Given the description of an element on the screen output the (x, y) to click on. 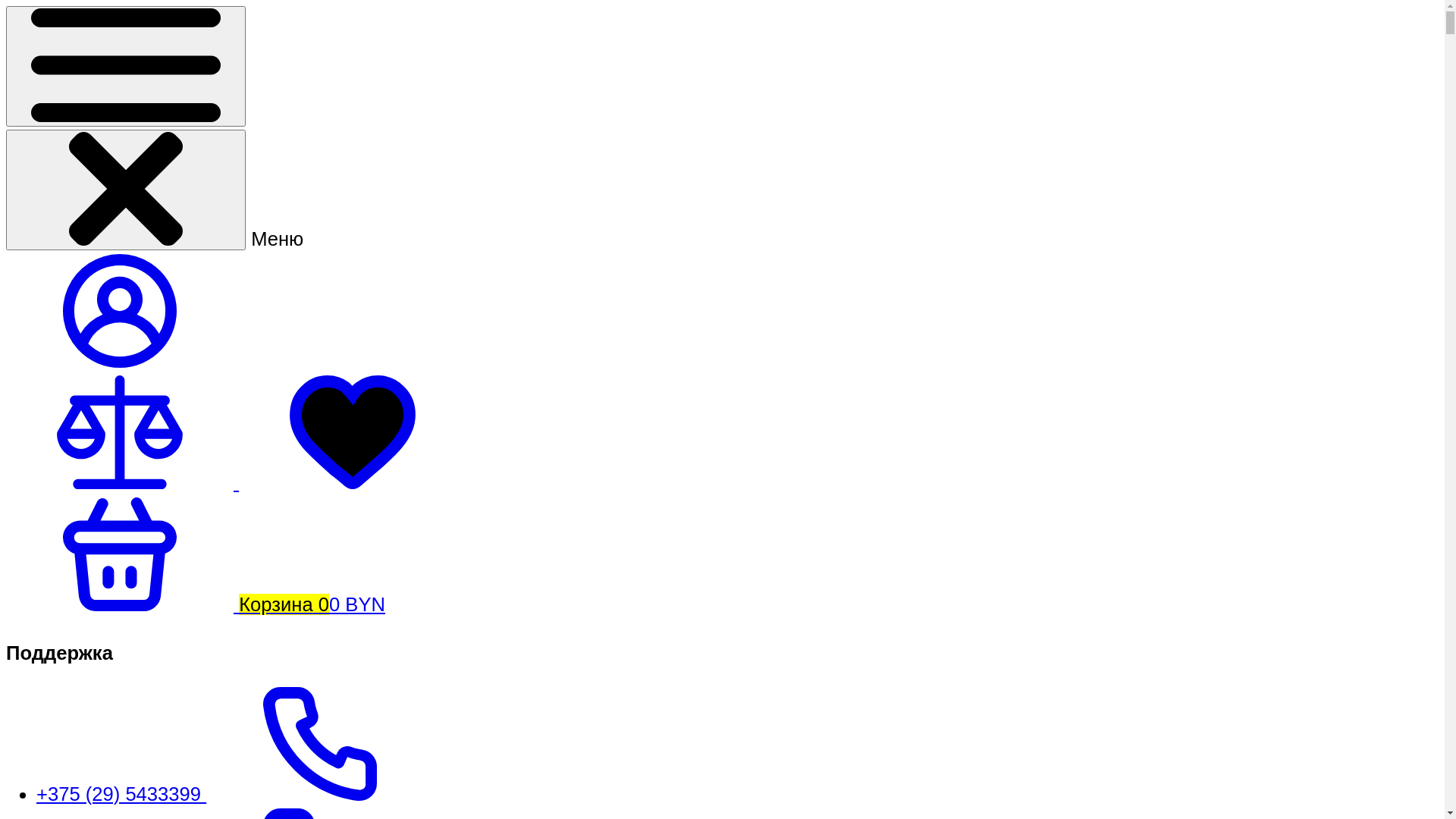
+375 (29) 5433399 Element type: text (234, 793)
